Given the description of an element on the screen output the (x, y) to click on. 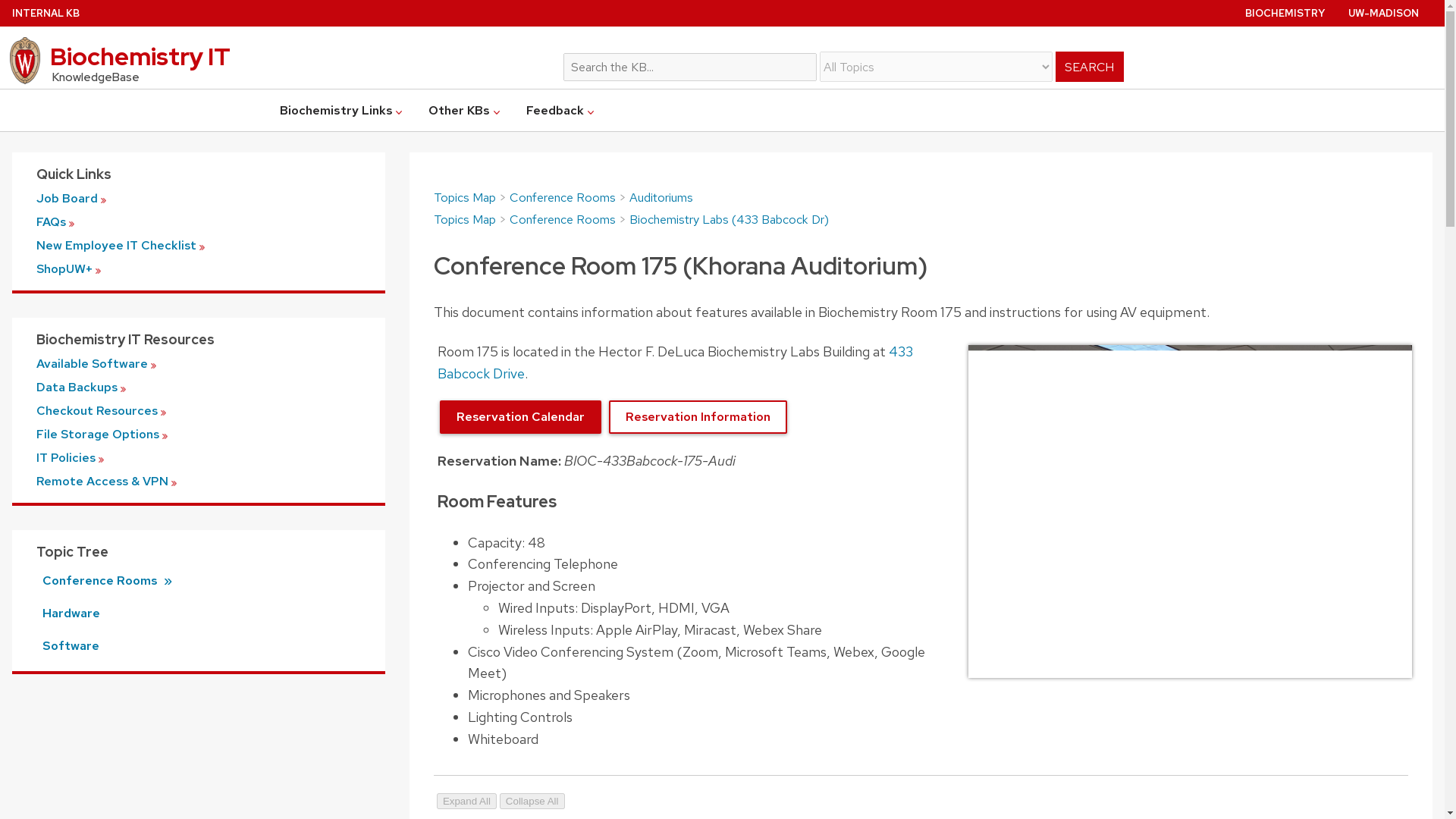
FAQs (198, 222)
Conference Rooms (562, 219)
Expand All (466, 801)
433 Babcock Drive (675, 362)
SEARCH (1089, 66)
BIOCHEMISTRY (1284, 12)
Reservation Calendar (520, 417)
Software (204, 646)
Biochemistry IT (275, 60)
Checkout Resources (198, 410)
Campus Map (520, 417)
Job Board (198, 198)
SEARCH (1089, 66)
INTERNAL KB (45, 12)
IT Policies (198, 457)
